Given the description of an element on the screen output the (x, y) to click on. 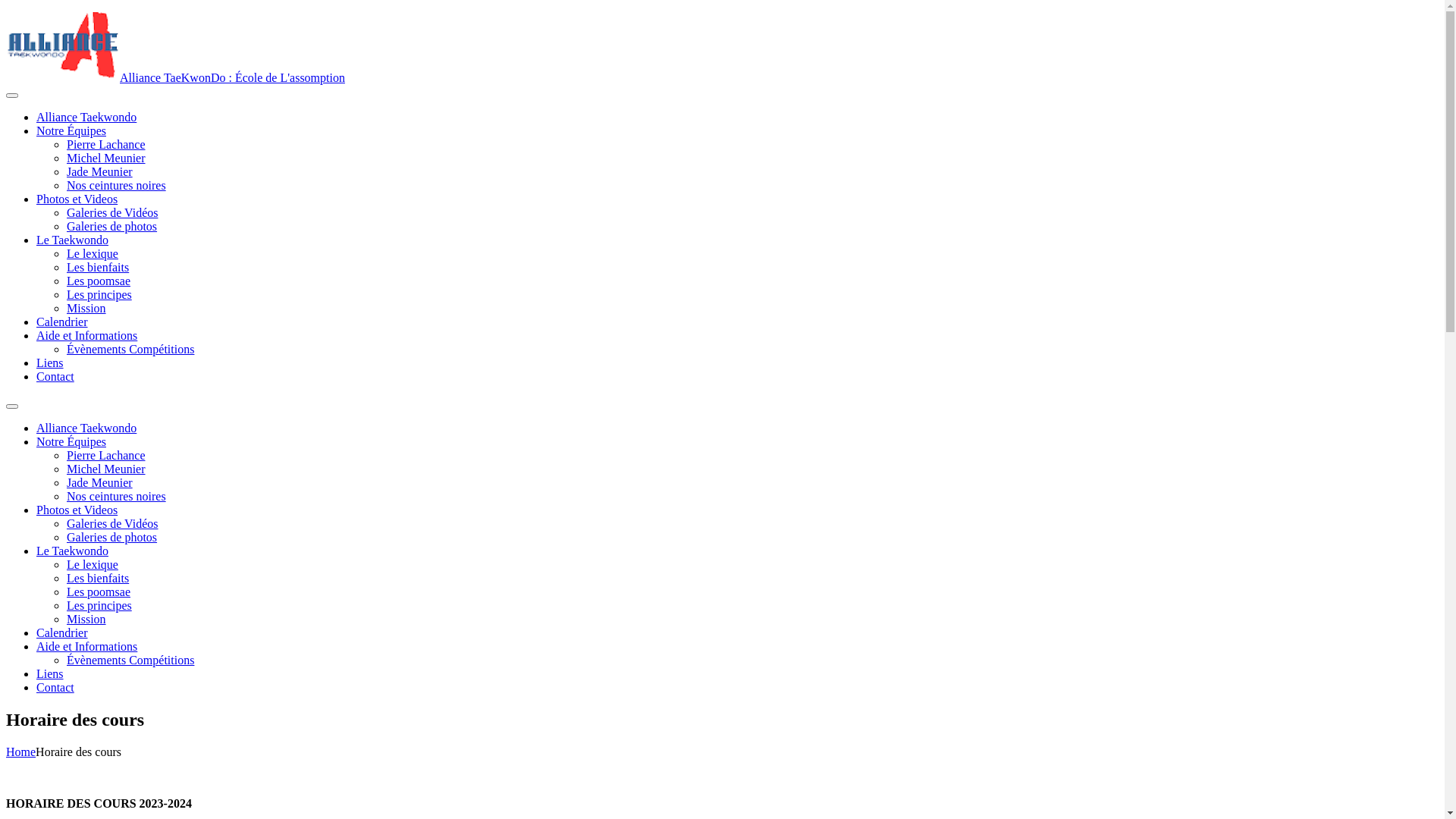
Les poomsae Element type: text (98, 280)
Home Element type: text (20, 751)
Galeries de photos Element type: text (111, 536)
Jade Meunier Element type: text (99, 171)
Les principes Element type: text (98, 294)
Alliance Taekwondo Element type: text (86, 116)
Contact Element type: text (55, 376)
Les principes Element type: text (98, 605)
Pierre Lachance Element type: text (105, 144)
Jade Meunier Element type: text (99, 482)
Les bienfaits Element type: text (97, 266)
Aide et Informations Element type: text (86, 335)
Le lexique Element type: text (92, 564)
Mission Element type: text (86, 618)
Galeries de photos Element type: text (111, 225)
Michel Meunier Element type: text (105, 157)
Calendrier Element type: text (61, 632)
Le lexique Element type: text (92, 253)
Photos et Videos Element type: text (76, 509)
Michel Meunier Element type: text (105, 468)
Liens Element type: text (49, 673)
Aide et Informations Element type: text (86, 646)
Le Taekwondo Element type: text (72, 550)
Alliance Taekwondo Element type: text (86, 427)
Calendrier Element type: text (61, 321)
Nos ceintures noires Element type: text (116, 495)
Nos ceintures noires Element type: text (116, 184)
Les poomsae Element type: text (98, 591)
Le Taekwondo Element type: text (72, 239)
Photos et Videos Element type: text (76, 198)
Contact Element type: text (55, 686)
Liens Element type: text (49, 362)
Les bienfaits Element type: text (97, 577)
Mission Element type: text (86, 307)
Pierre Lachance Element type: text (105, 454)
